Given the description of an element on the screen output the (x, y) to click on. 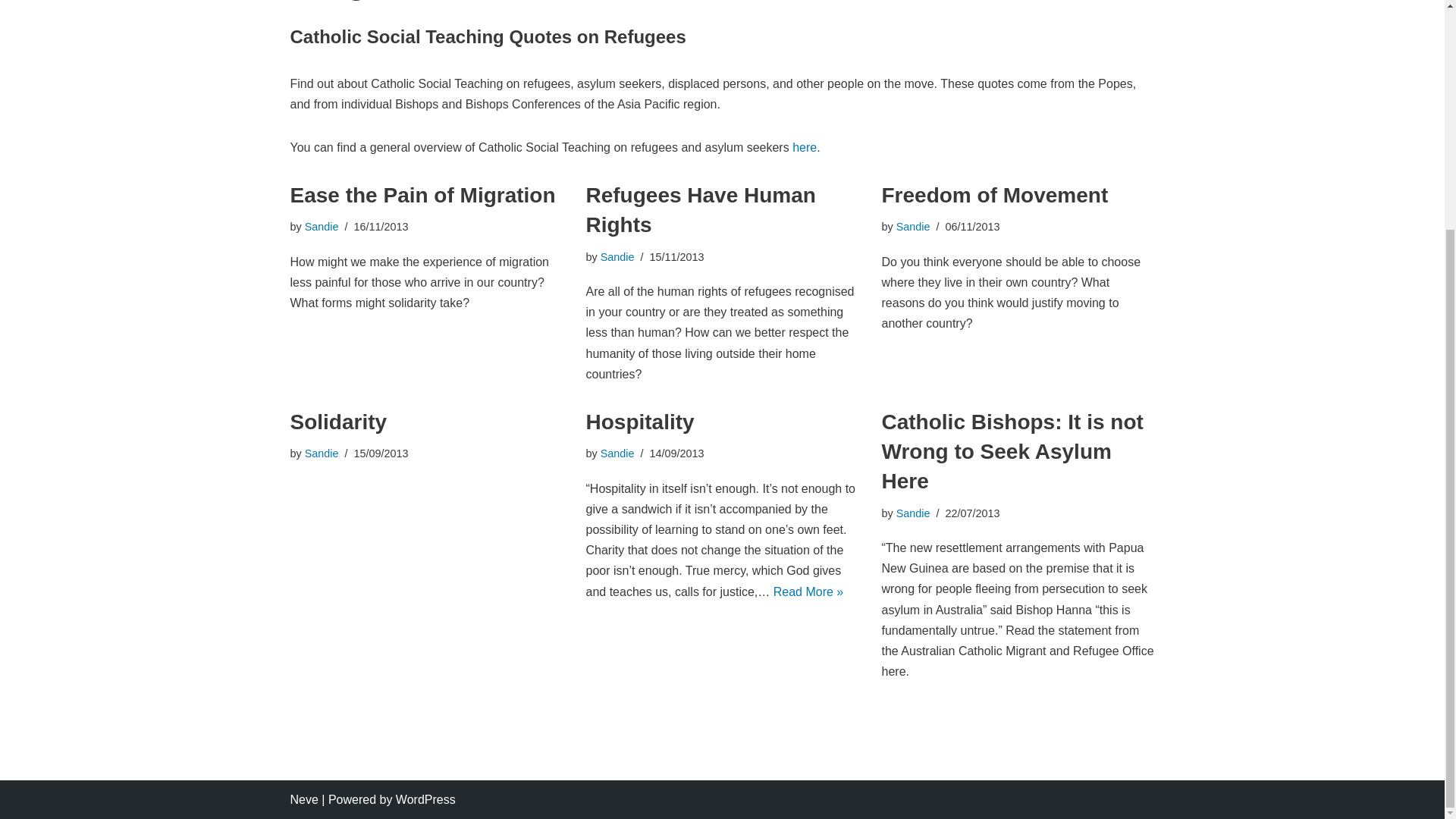
Posts by Sandie (913, 512)
Posts by Sandie (321, 453)
Posts by Sandie (321, 226)
Posts by Sandie (913, 226)
Posts by Sandie (616, 453)
Posts by Sandie (616, 256)
